Given the description of an element on the screen output the (x, y) to click on. 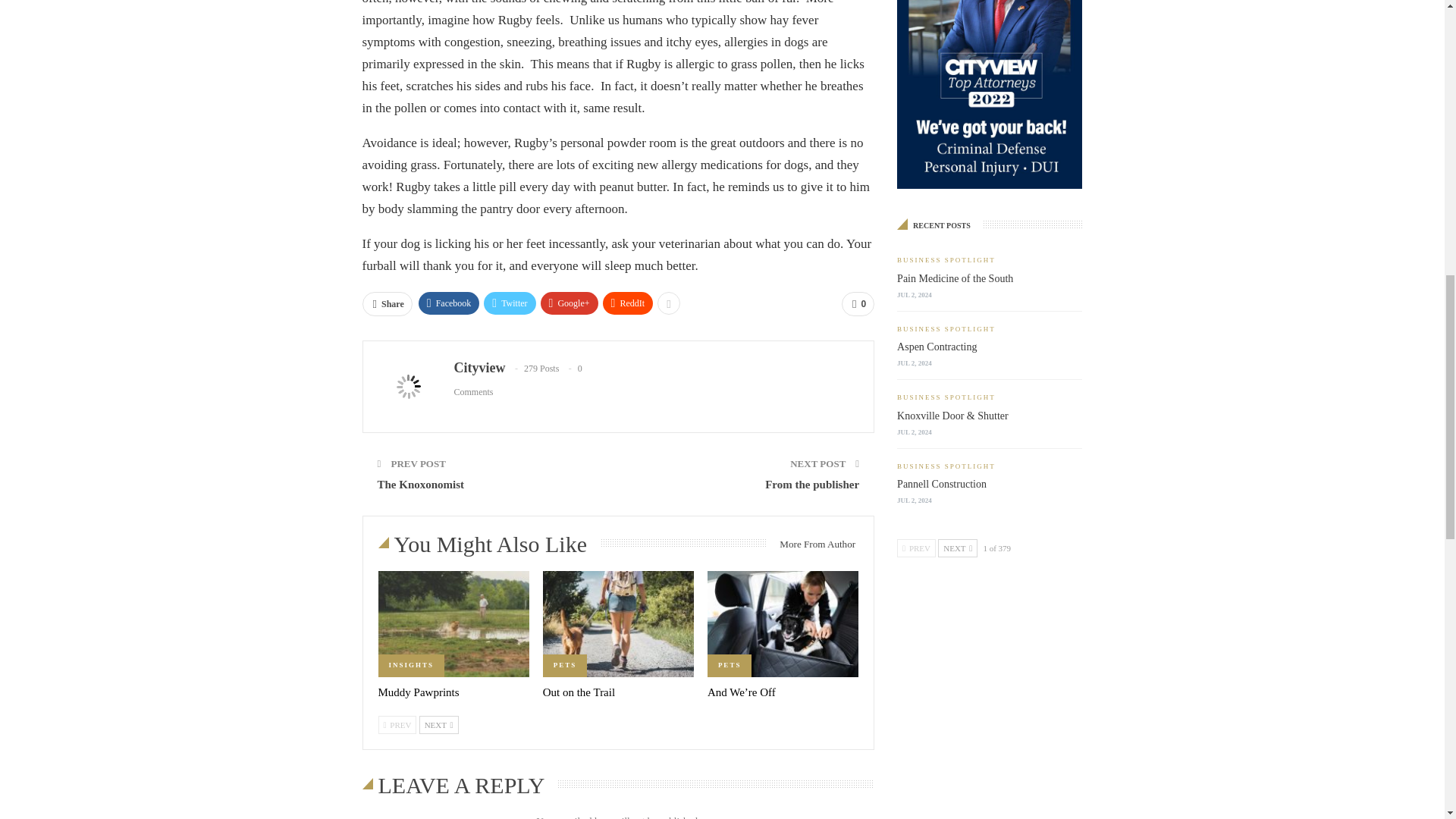
Muddy Pawprints (452, 623)
Muddy Pawprints (417, 692)
Out on the Trail (618, 623)
Out on the Trail (578, 692)
